Given the description of an element on the screen output the (x, y) to click on. 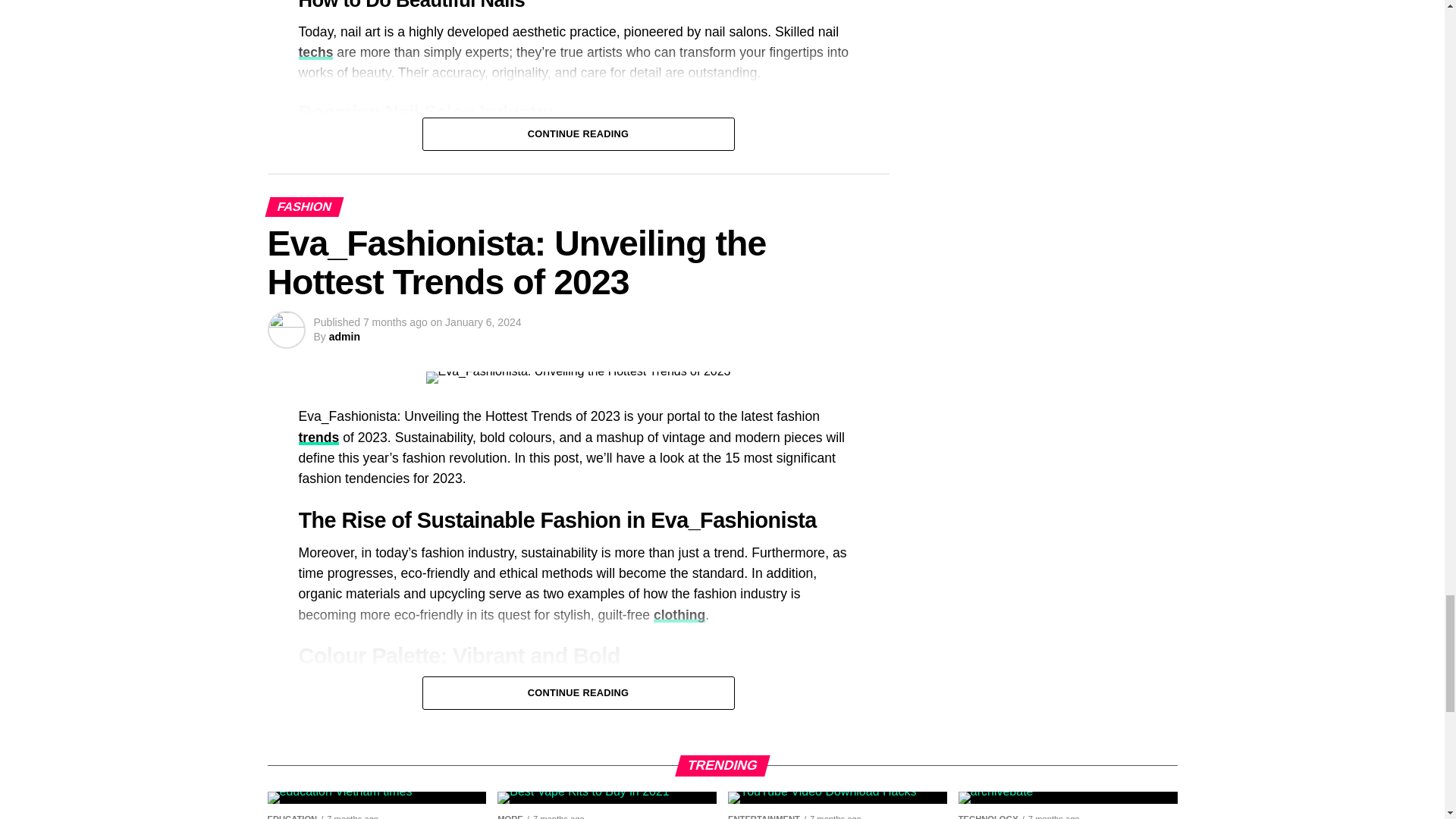
Posts by admin (344, 336)
